Given the description of an element on the screen output the (x, y) to click on. 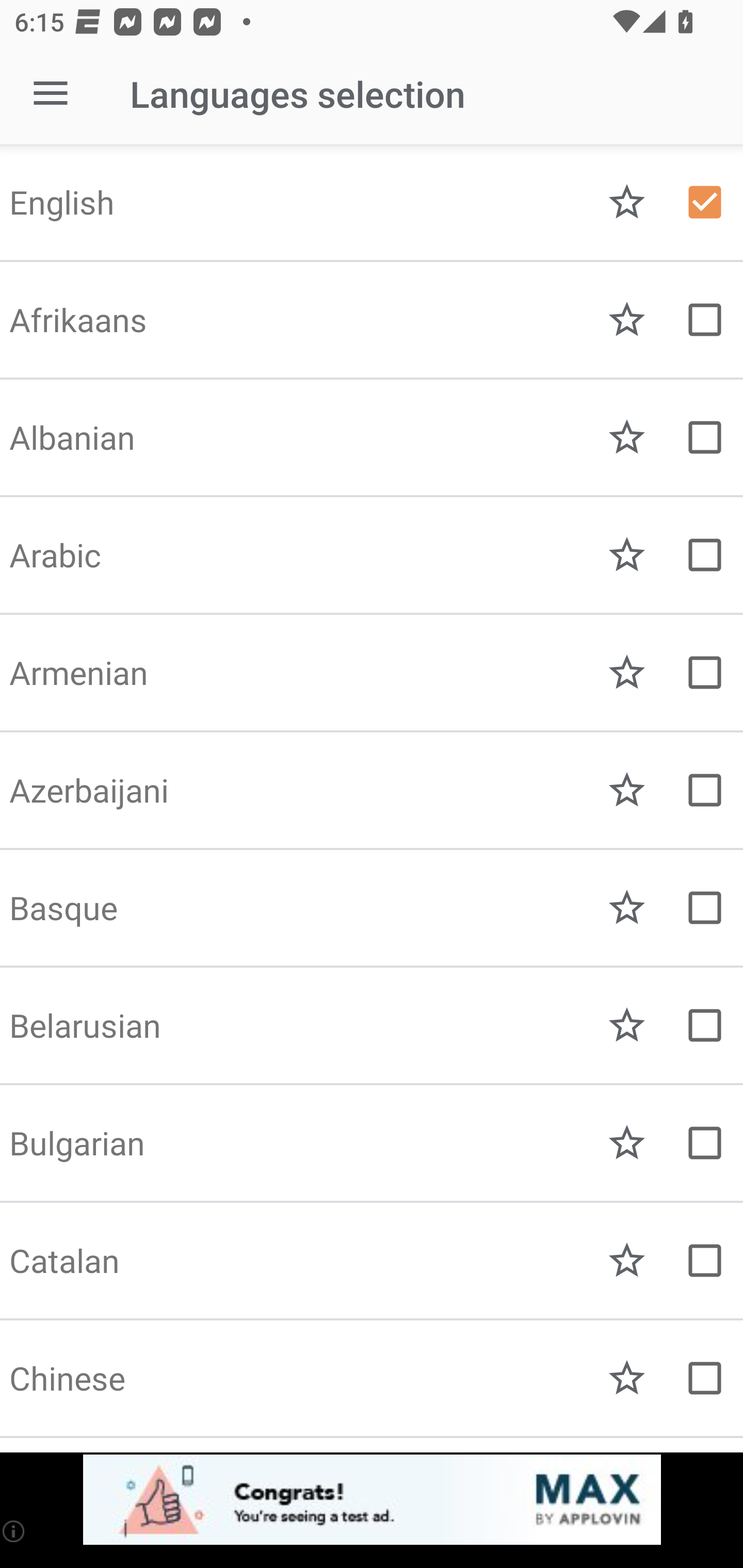
Open navigation sidebar (50, 93)
English Favorite (371, 202)
Favorite (626, 202)
Afrikaans Favorite (371, 319)
Favorite (626, 319)
Albanian Favorite (371, 437)
Favorite (626, 437)
Arabic Favorite (371, 555)
Favorite (626, 555)
Armenian Favorite (371, 672)
Favorite (626, 672)
Azerbaijani Favorite (371, 790)
Favorite (626, 790)
Basque Favorite (371, 907)
Favorite (626, 907)
Belarusian Favorite (371, 1025)
Favorite (626, 1025)
Bulgarian Favorite (371, 1143)
Favorite (626, 1143)
Catalan Favorite (371, 1260)
Favorite (626, 1260)
Chinese Favorite (371, 1378)
Favorite (626, 1378)
app-monetization (371, 1500)
(i) (14, 1531)
